Given the description of an element on the screen output the (x, y) to click on. 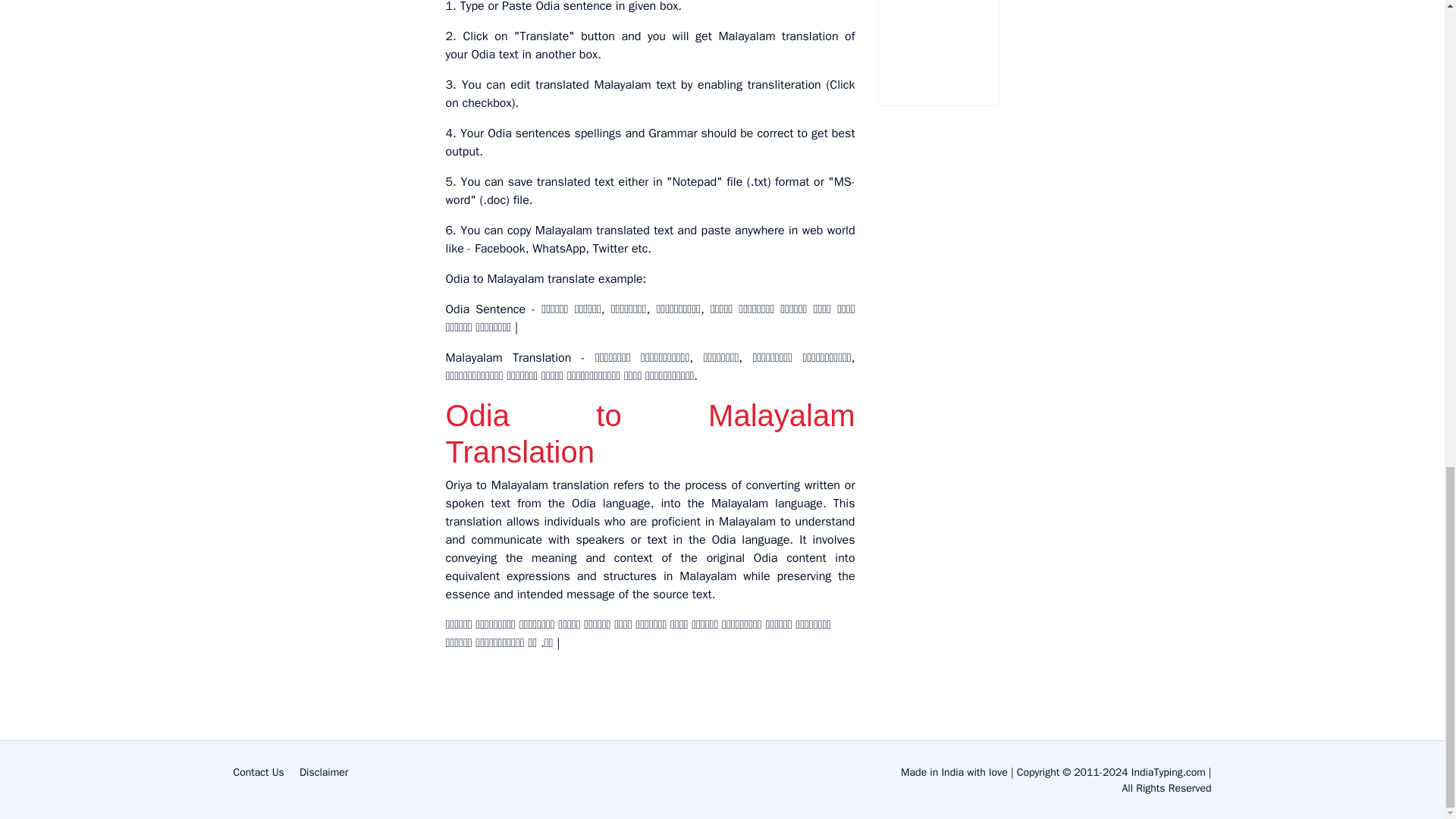
Advertisement (970, 41)
